Given the description of an element on the screen output the (x, y) to click on. 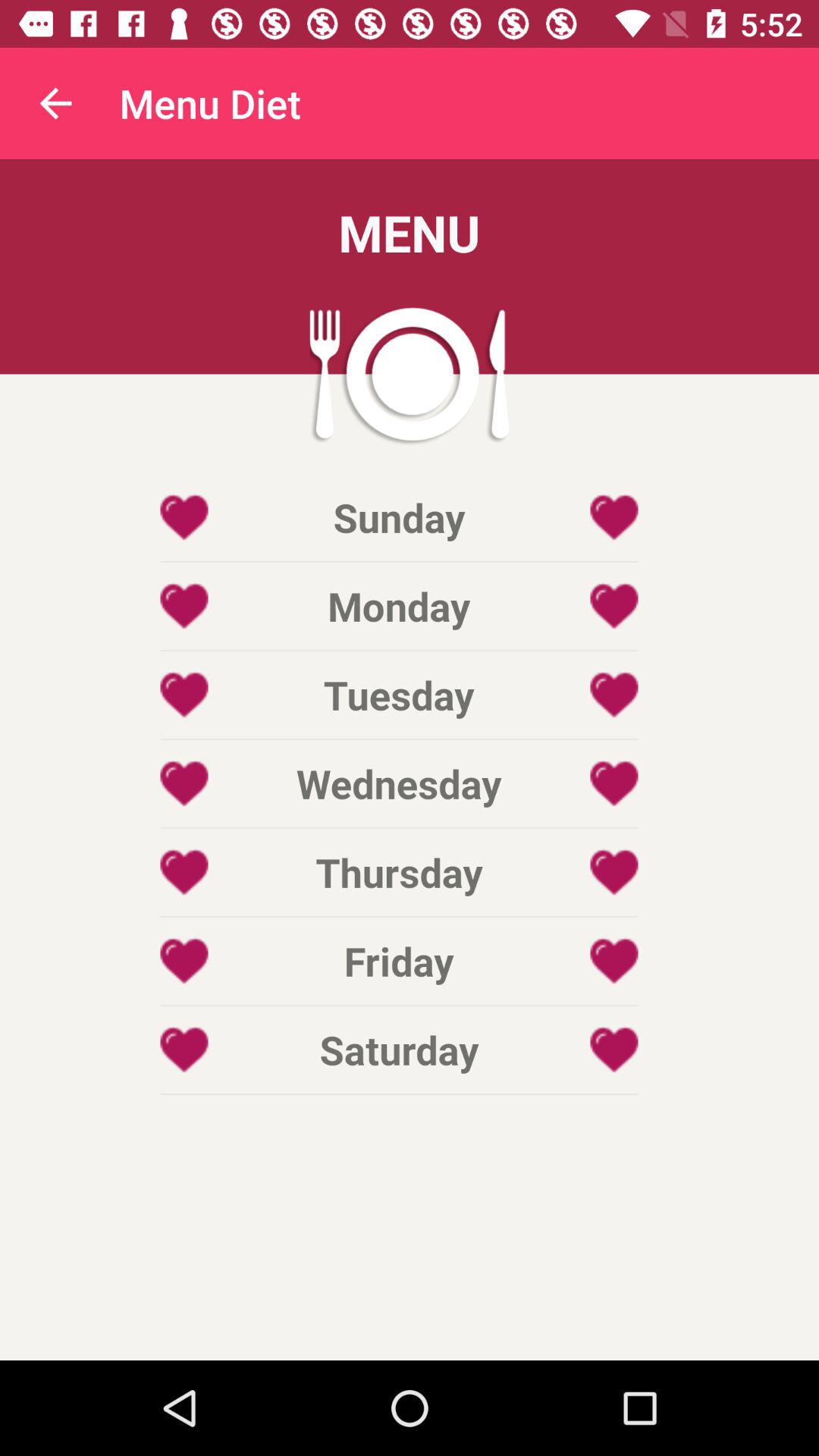
open icon below the monday icon (398, 694)
